Given the description of an element on the screen output the (x, y) to click on. 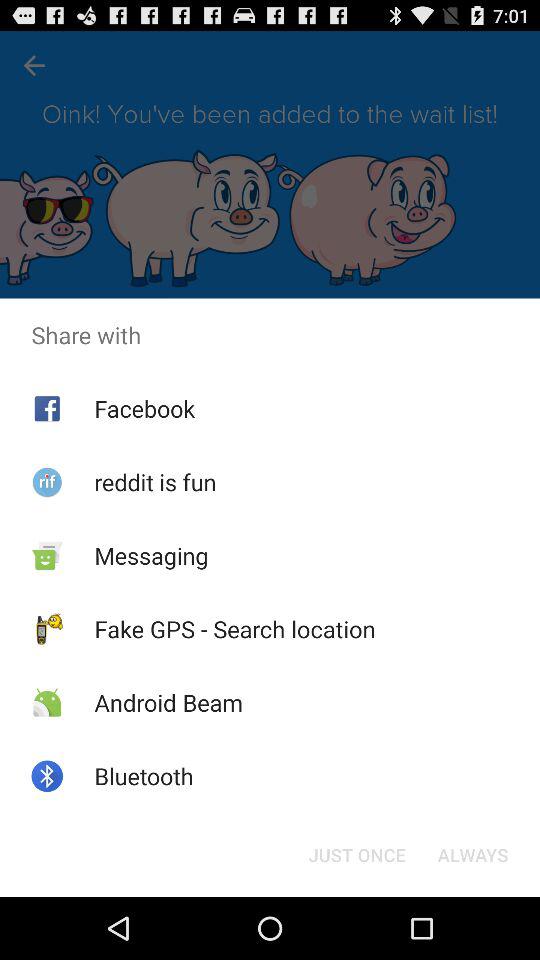
scroll until the messaging icon (151, 555)
